Given the description of an element on the screen output the (x, y) to click on. 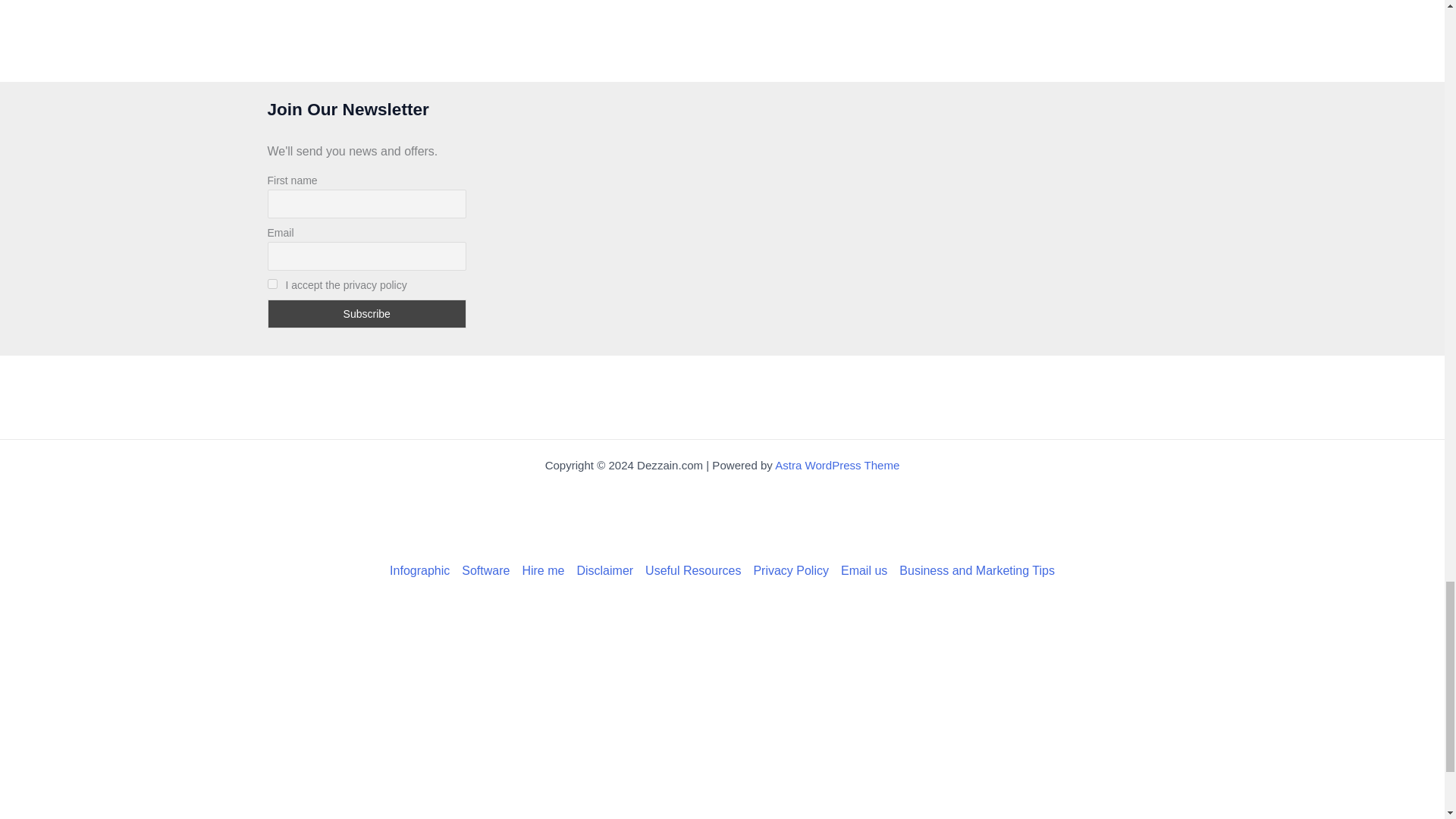
on (271, 284)
Advertisement (721, 518)
Hire Richie for Custom Work (542, 570)
Read our privacy policy terms (790, 570)
Advertisement (721, 37)
Advertisement (721, 397)
Subscribe (365, 313)
